Given the description of an element on the screen output the (x, y) to click on. 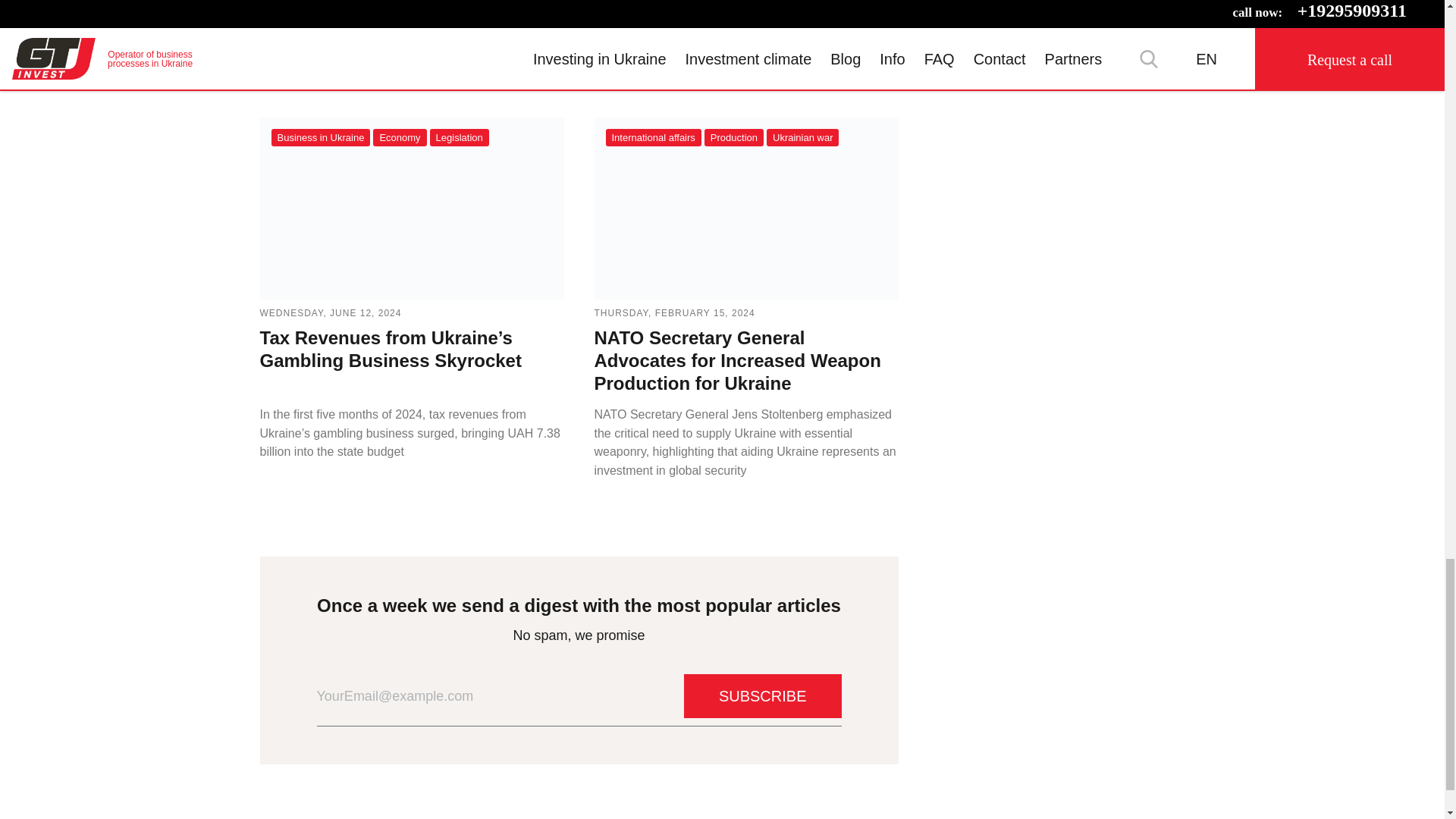
Business in Ukraine (320, 137)
Production (733, 137)
Legislation (459, 137)
Economy (399, 137)
International affairs (652, 137)
